Given the description of an element on the screen output the (x, y) to click on. 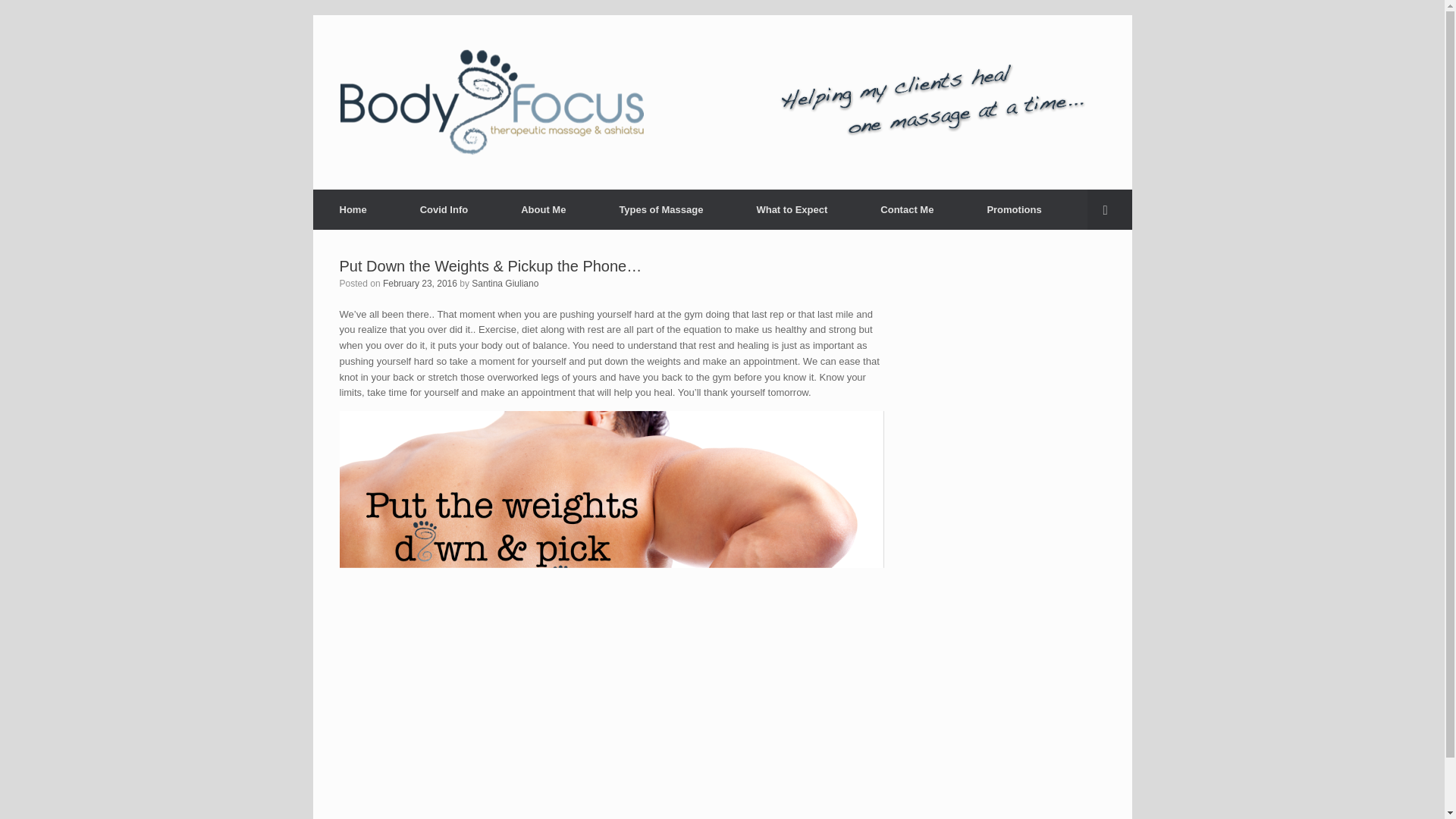
About Me (543, 209)
Santina Giuliano (504, 283)
What to Expect (791, 209)
February 23, 2016 (419, 283)
Promotions (1013, 209)
Home (353, 209)
Contact Body Focus Therapeutic Massage (906, 209)
Welcome to Body Focus Therapeutic Massage (353, 209)
Styles of Massage I offer at Body Focus Therapeutic Massage (660, 209)
Body Focus Therapeutic Massage (492, 102)
